Given the description of an element on the screen output the (x, y) to click on. 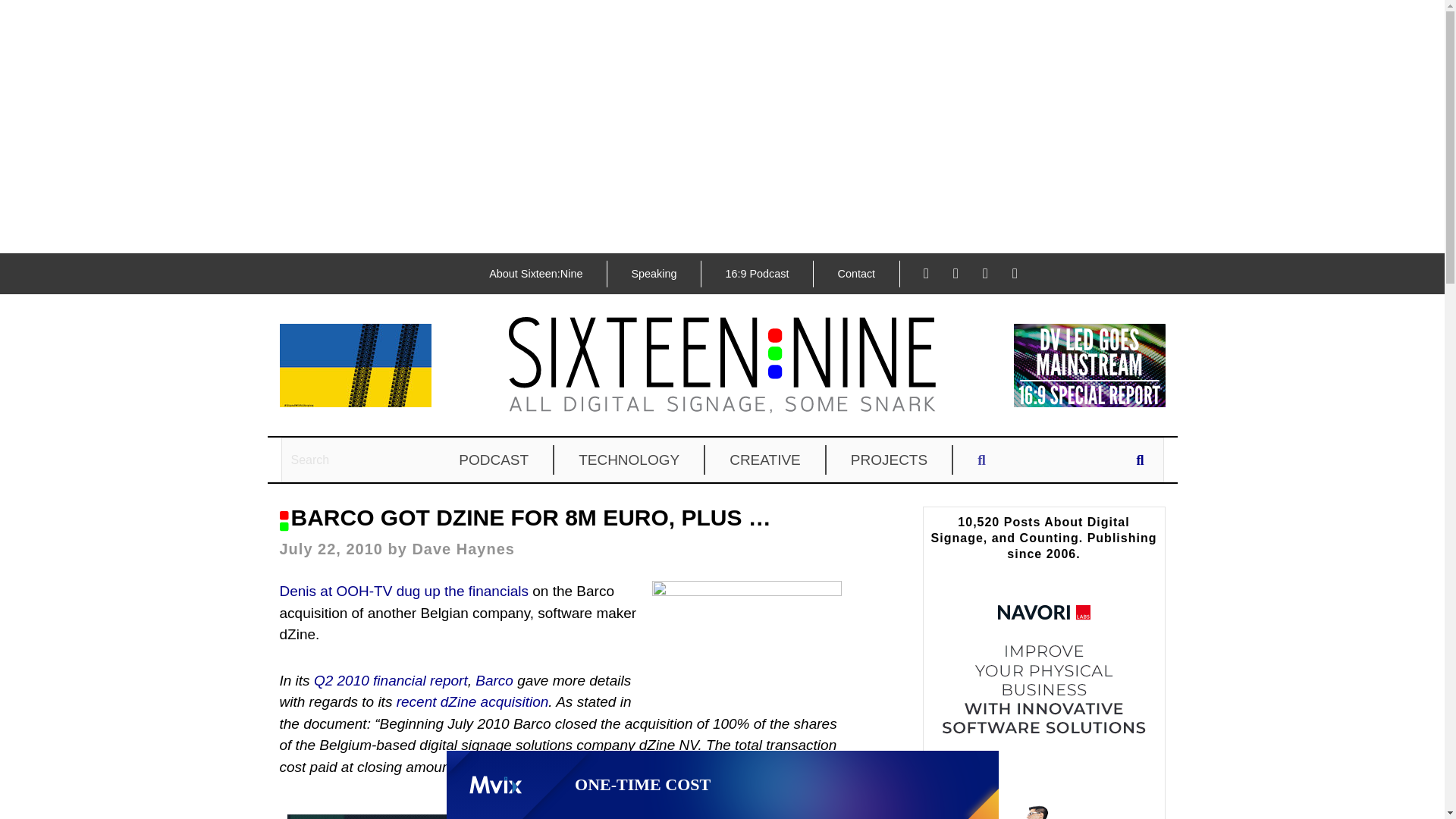
CREATIVE (765, 460)
PROJECTS (890, 460)
About Sixteen:Nine (535, 273)
Barco (494, 680)
Denis at OOH-TV dug up the financials (403, 590)
dzineFront (746, 636)
TECHNOLOGY (629, 460)
Q2 2010 financial report (390, 680)
Speaking (653, 273)
recent dZine acquisition (472, 701)
